Given the description of an element on the screen output the (x, y) to click on. 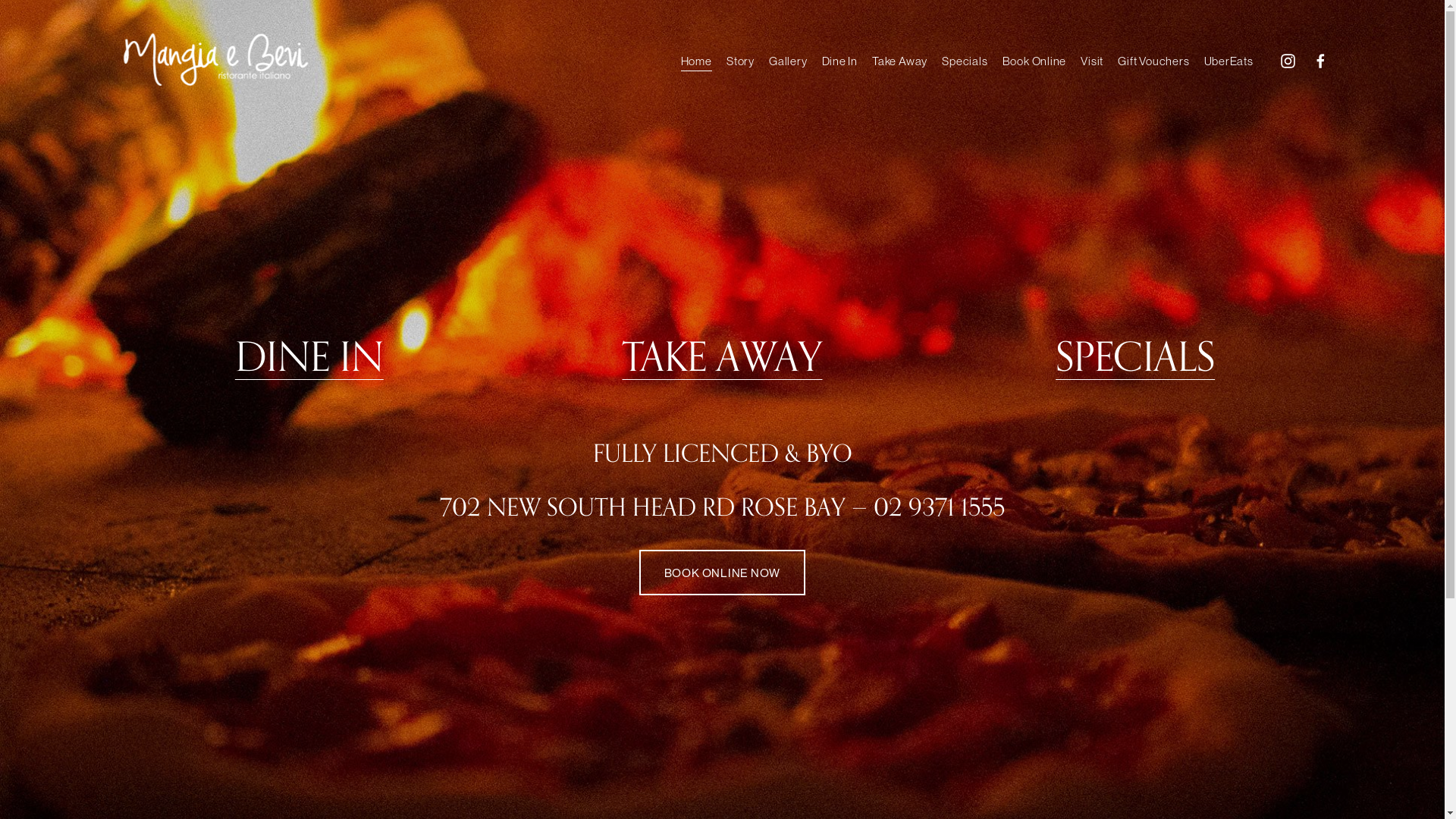
SPECIALS Element type: text (1134, 357)
Home Element type: text (696, 60)
Specials Element type: text (964, 60)
TAKE AWAY Element type: text (721, 357)
Gallery Element type: text (787, 60)
Visit Element type: text (1091, 60)
DINE IN Element type: text (309, 357)
Book Online Element type: text (1034, 60)
Gift Vouchers Element type: text (1153, 60)
Dine In Element type: text (839, 60)
Story Element type: text (740, 60)
Take Away Element type: text (899, 60)
UberEats Element type: text (1228, 60)
BOOK ONLINE NOW Element type: text (721, 571)
